Given the description of an element on the screen output the (x, y) to click on. 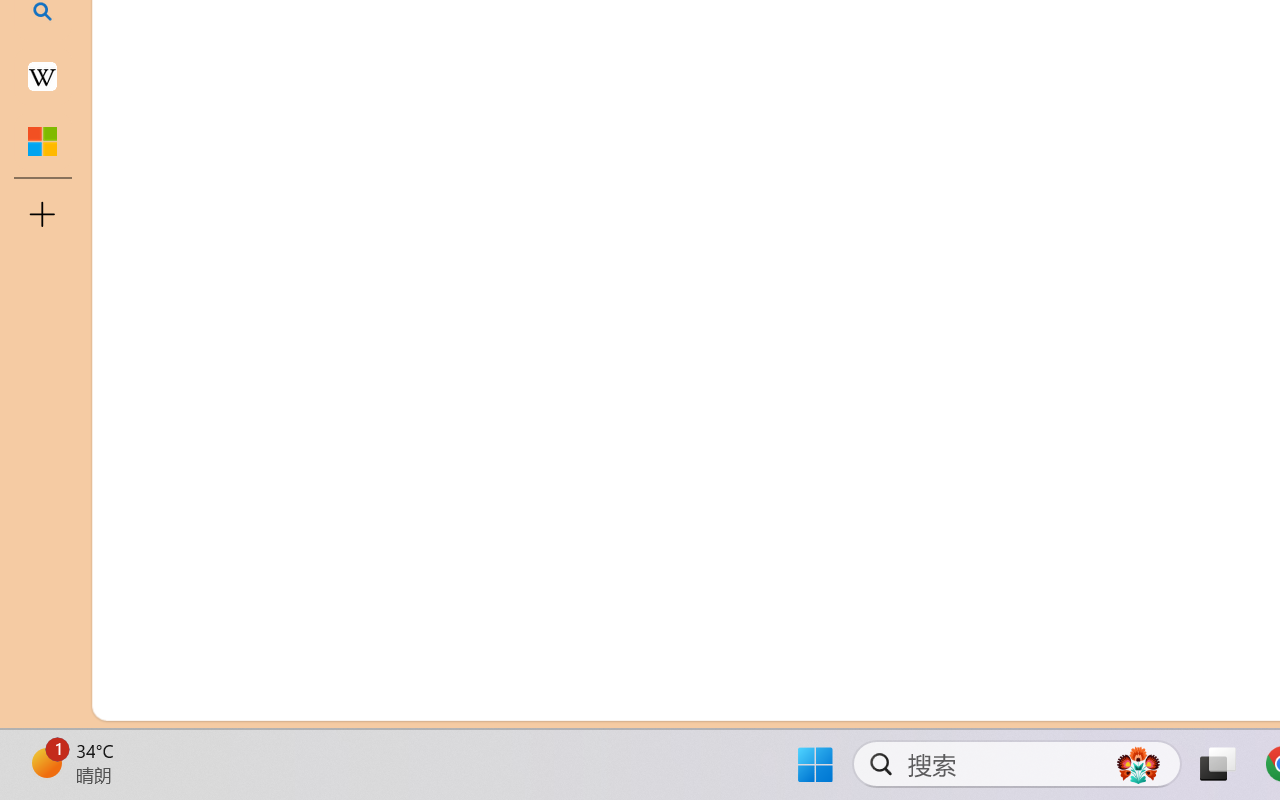
Outline Section (331, 619)
Forwarded Ports: 36301, 47065, 38781, 45817, 50331 (308, 698)
No Problems (212, 698)
Earth - Wikipedia (42, 75)
Manage (135, 591)
Manage (135, 635)
Accounts - Sign in requested (135, 548)
remote (122, 698)
